Given the description of an element on the screen output the (x, y) to click on. 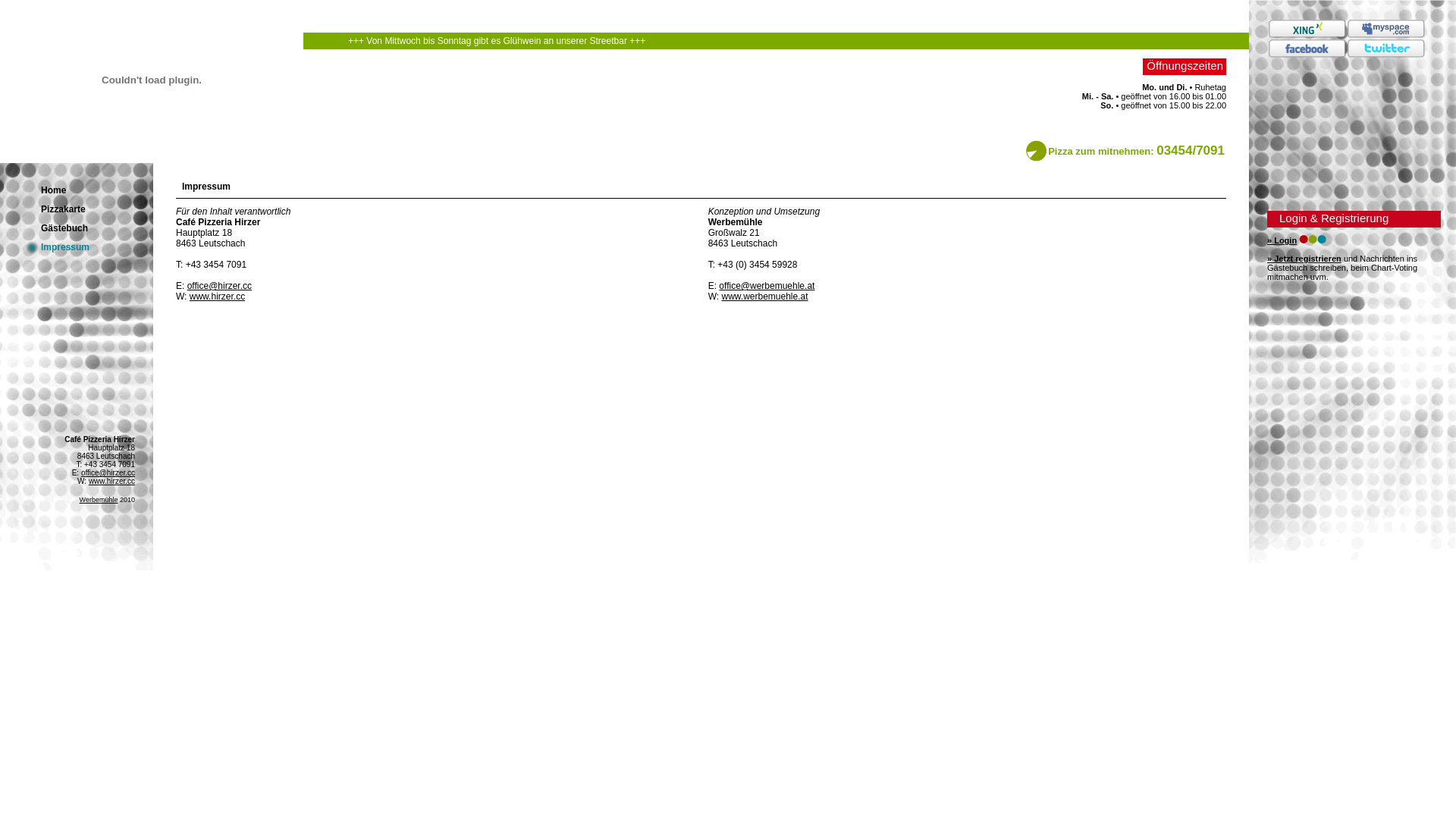
www.werbemuehle.at Element type: text (764, 296)
Impressum Element type: text (64, 246)
office@werbemuehle.at Element type: text (766, 285)
Home Element type: text (52, 190)
www.hirzer.cc Element type: text (216, 296)
www.hirzer.cc Element type: text (111, 480)
office@hirzer.cc Element type: text (219, 285)
office@hirzer.cc Element type: text (107, 472)
Pizzakarte Element type: text (62, 208)
